Given the description of an element on the screen output the (x, y) to click on. 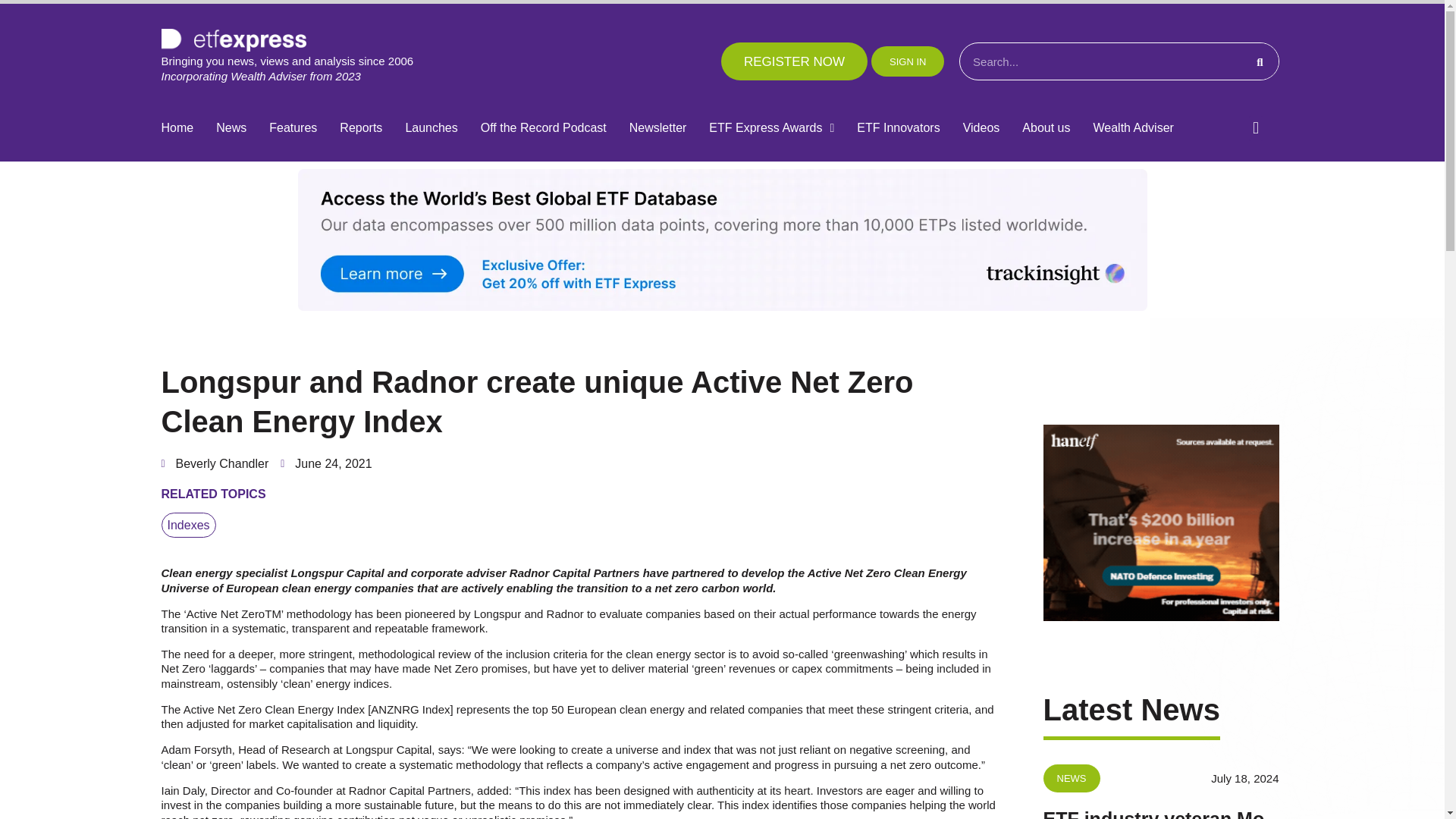
SIGN IN (906, 60)
Features (293, 128)
REGISTER NOW (793, 61)
